Given the description of an element on the screen output the (x, y) to click on. 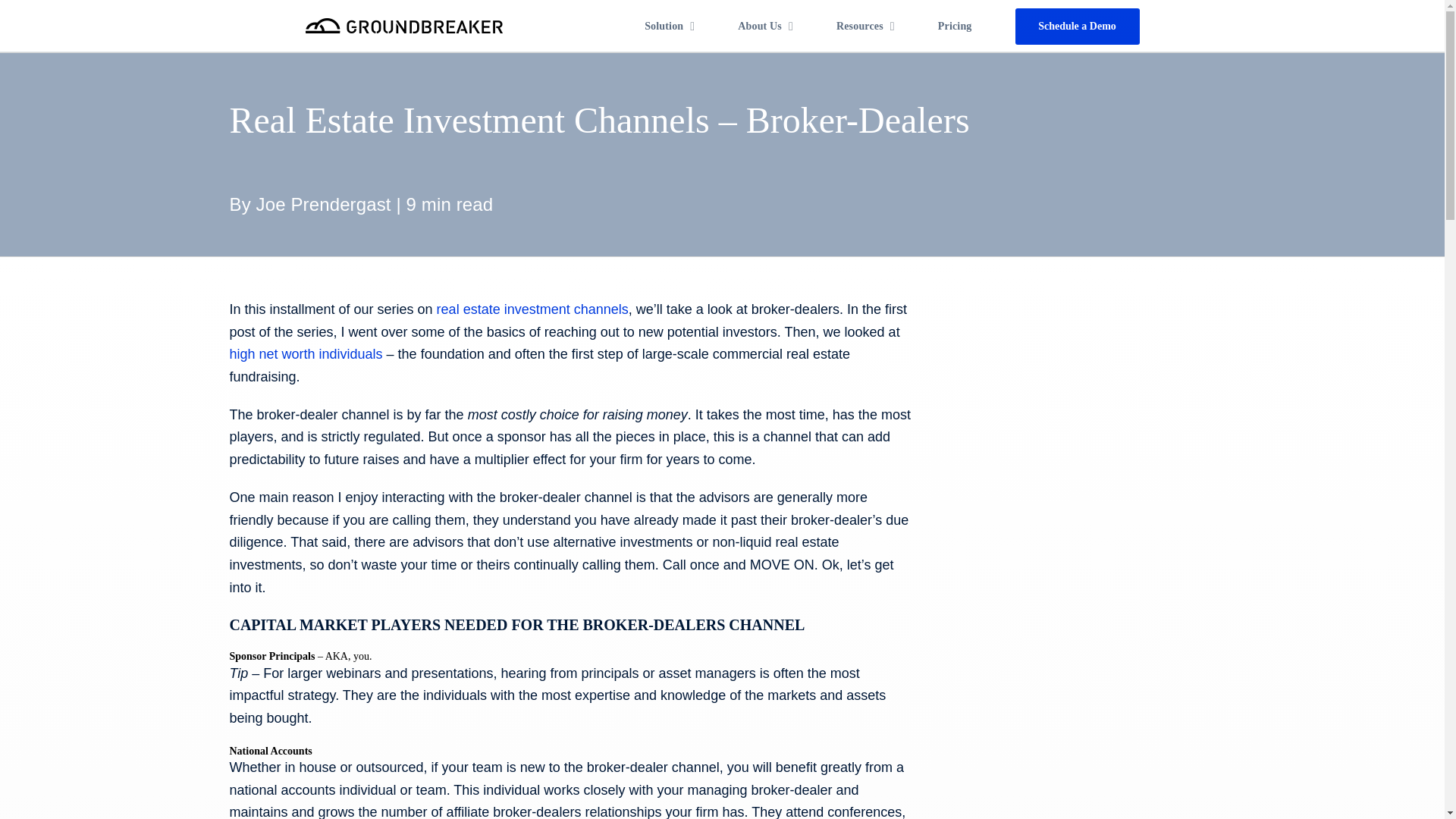
Resources (865, 26)
Schedule a Demo (1076, 26)
About Us (765, 26)
Solution (631, 26)
